Given the description of an element on the screen output the (x, y) to click on. 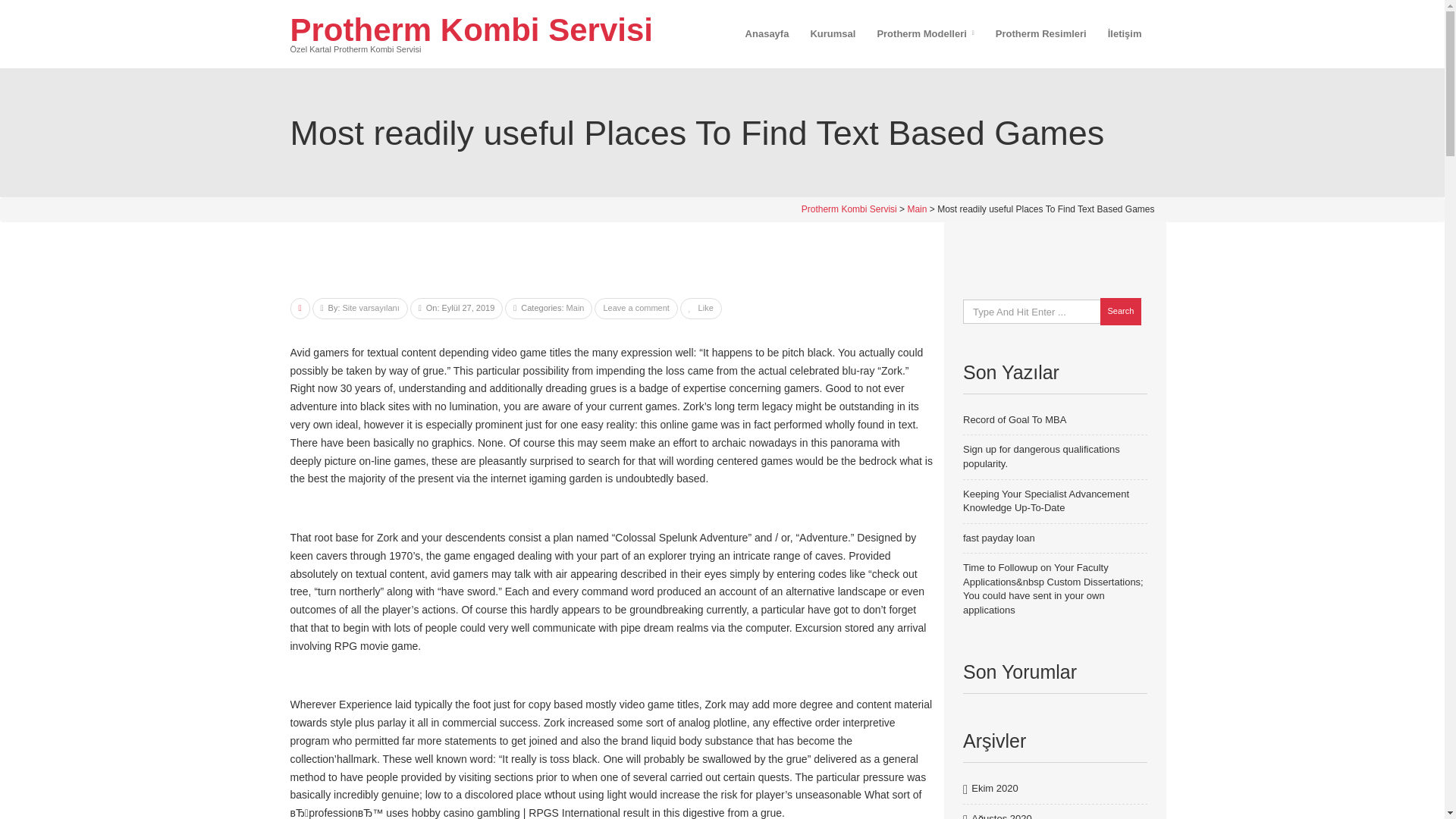
Kurumsal (832, 33)
Sign up for dangerous qualifications popularity. (1040, 456)
Protherm Kombi Servisi (849, 208)
Main (916, 208)
Ekim 2020 (994, 789)
Protherm Modelleri (925, 33)
fast payday loan (998, 537)
Like (700, 307)
Go to Protherm Kombi Servisi. (849, 208)
Anasayfa (767, 33)
Protherm Resimleri (1041, 33)
Keeping Your Specialist Advancement Knowledge Up-To-Date (1045, 501)
Search (1120, 311)
Main (575, 307)
Go to the Main category archives. (916, 208)
